Given the description of an element on the screen output the (x, y) to click on. 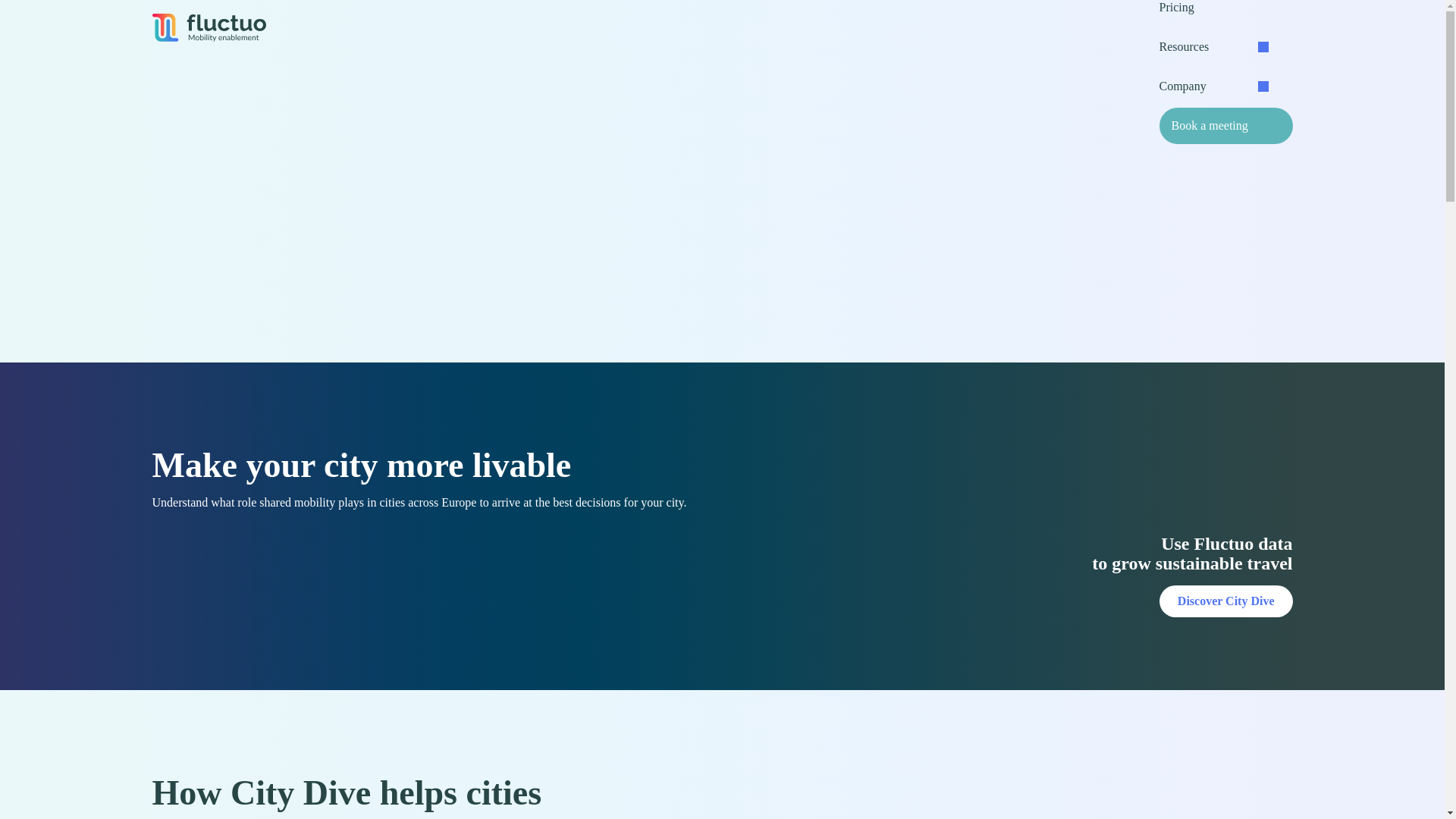
Company (1213, 89)
Pricing (1213, 14)
Book a meeting (1225, 125)
Resources (1213, 49)
Discover City Dive (1225, 601)
